Given the description of an element on the screen output the (x, y) to click on. 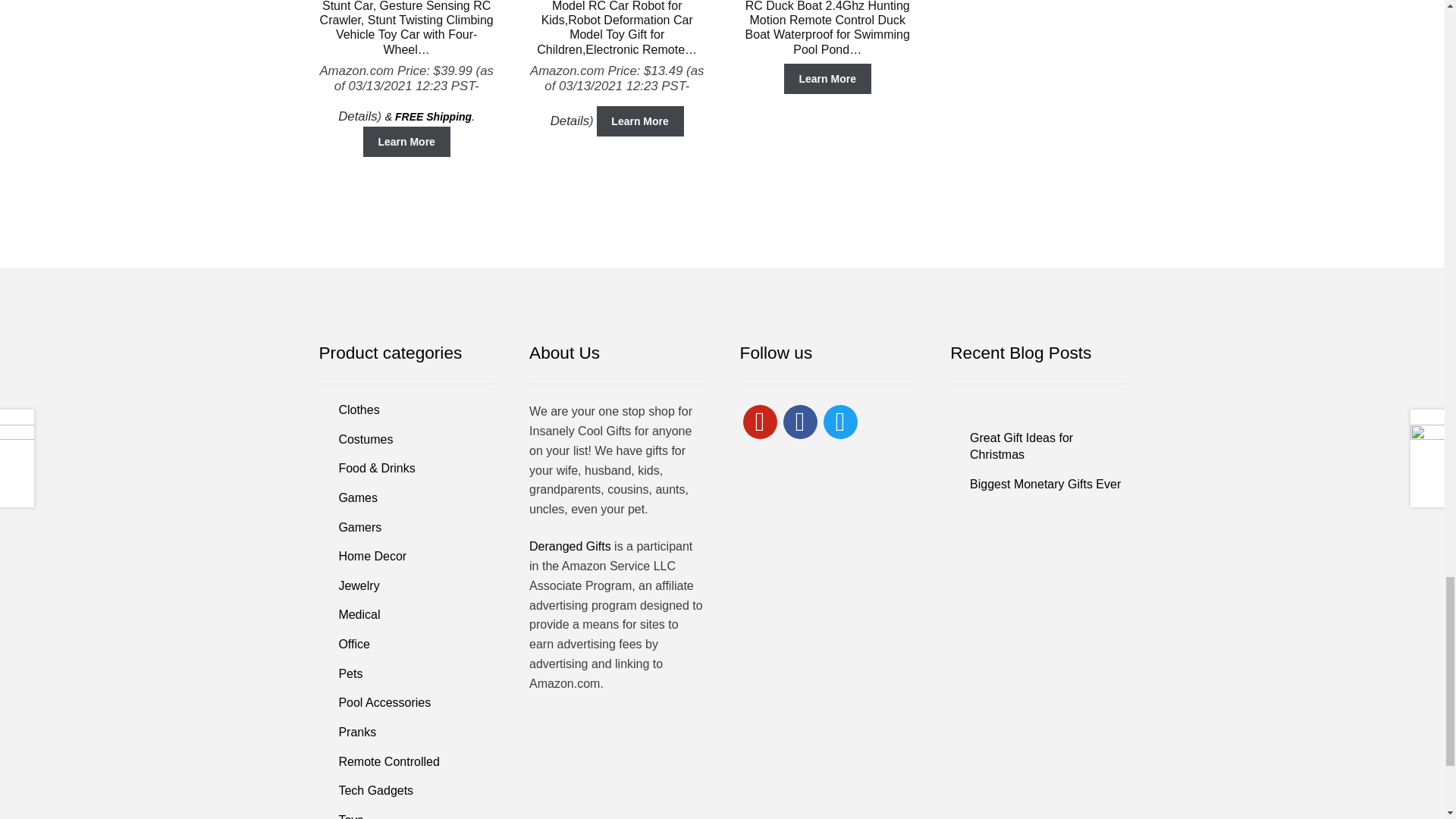
Twitter (840, 420)
Learn More (827, 78)
Details (569, 120)
Default Label (759, 420)
Facebook (799, 420)
Details (357, 115)
Learn More (640, 121)
Learn More (405, 141)
